Given the description of an element on the screen output the (x, y) to click on. 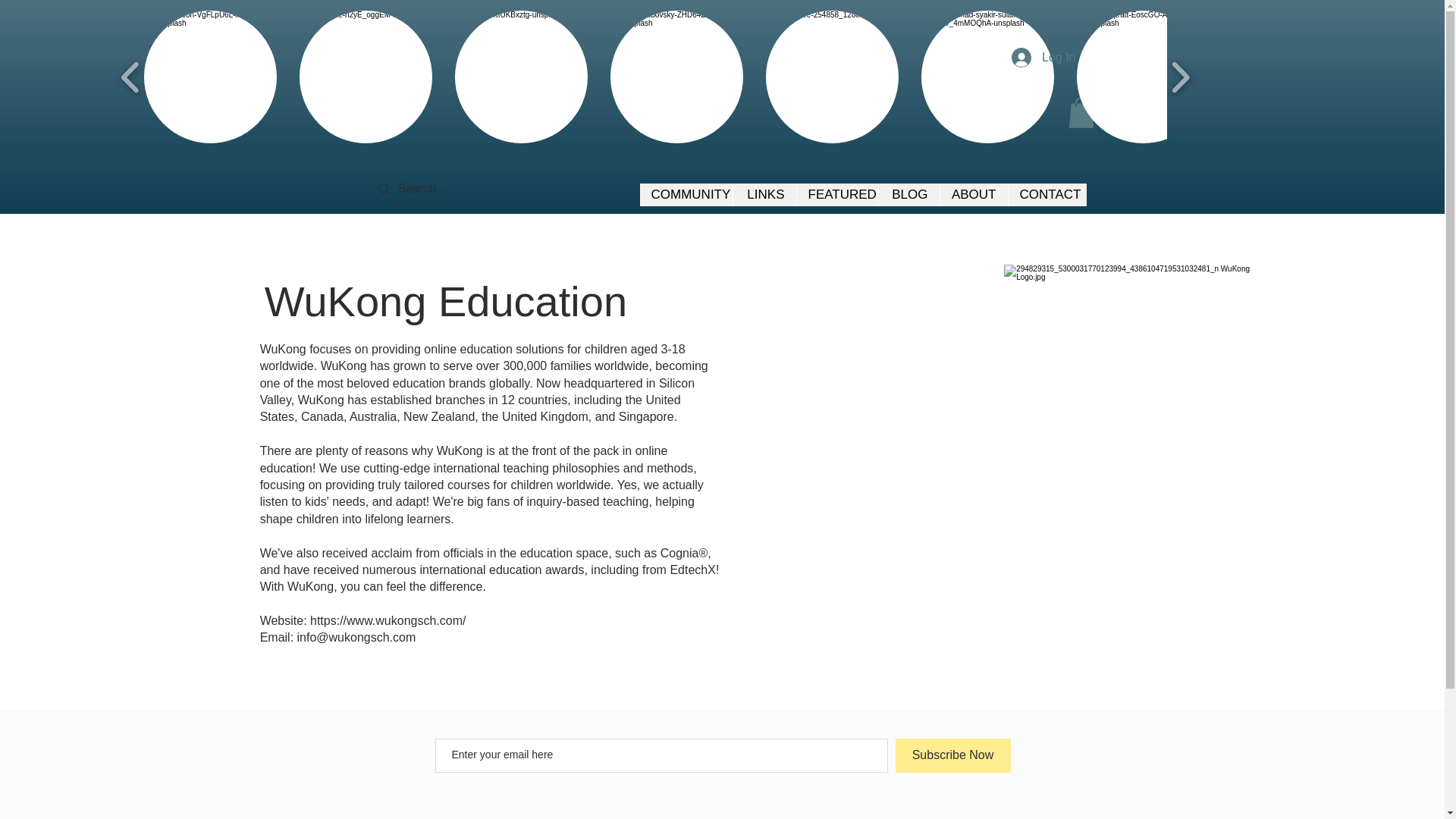
Subscribe Now (952, 755)
ABOUT (973, 194)
Log In (1043, 57)
BLOG (908, 194)
LINKS (764, 194)
FEATURED (836, 194)
COMMUNITY (686, 194)
CONTACT (1046, 194)
